Given the description of an element on the screen output the (x, y) to click on. 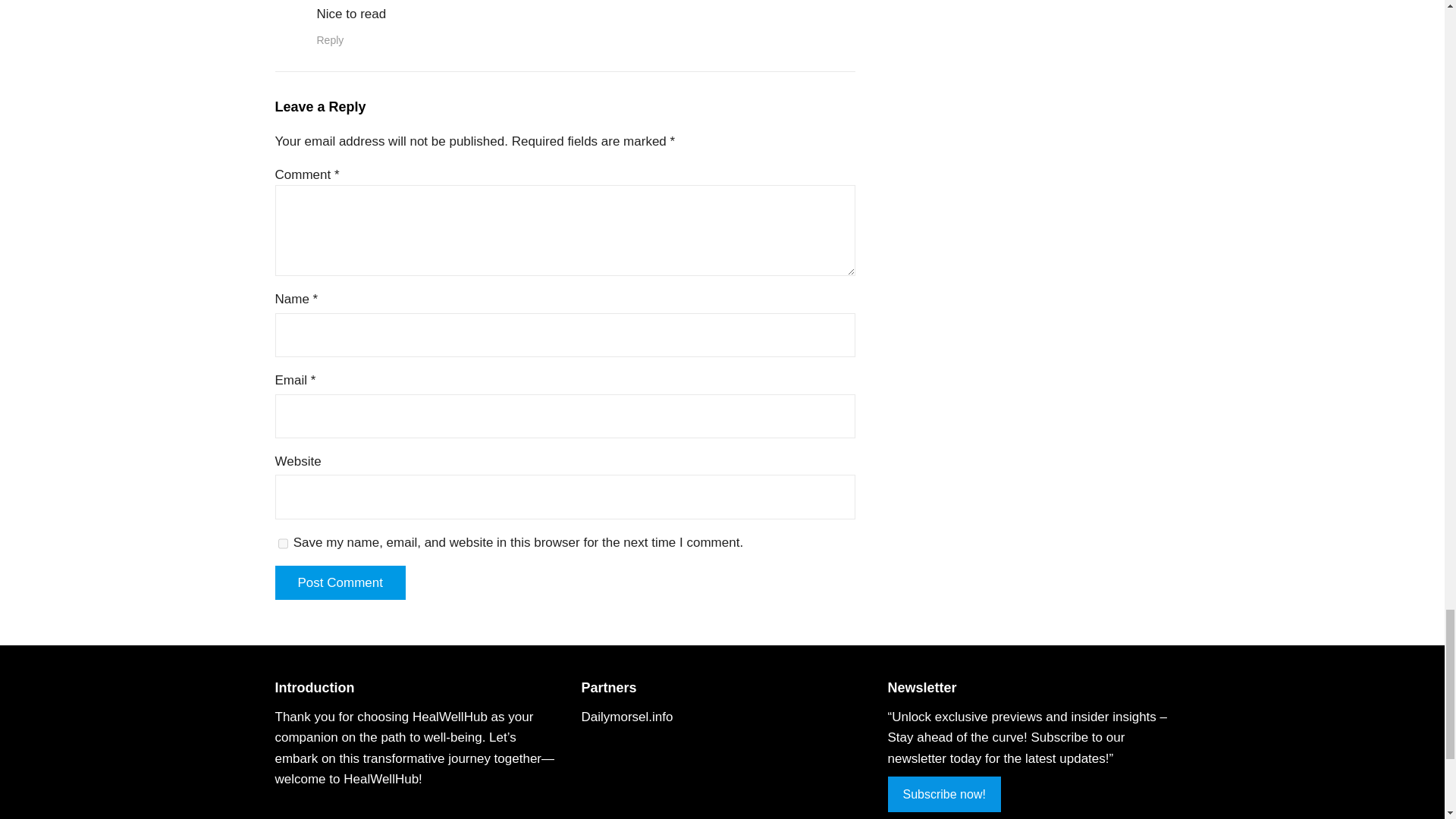
Reply (330, 39)
Post Comment (339, 582)
Post Comment (339, 582)
